Given the description of an element on the screen output the (x, y) to click on. 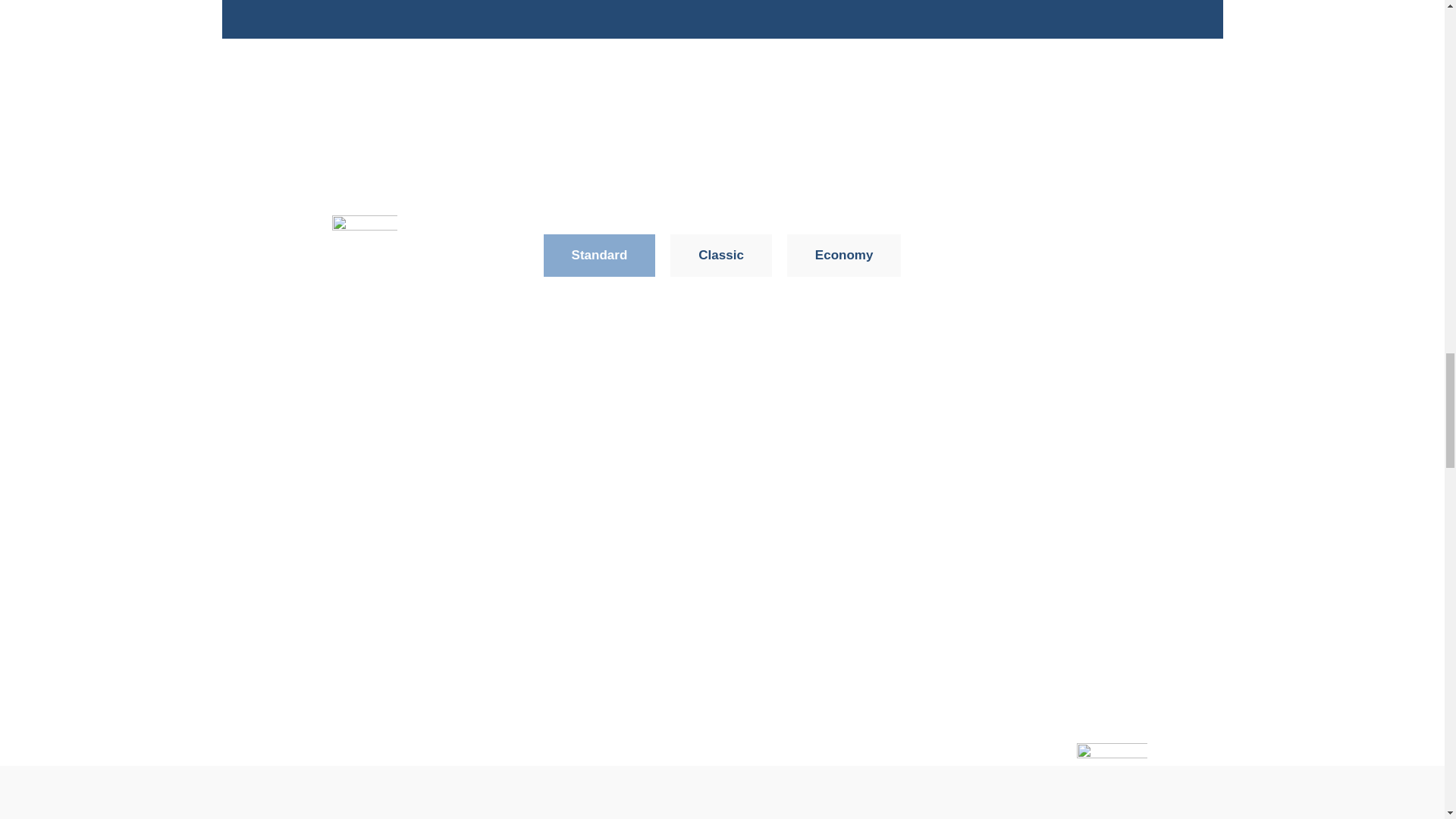
Classic (720, 255)
Economy (844, 255)
Standard (599, 255)
